Given the description of an element on the screen output the (x, y) to click on. 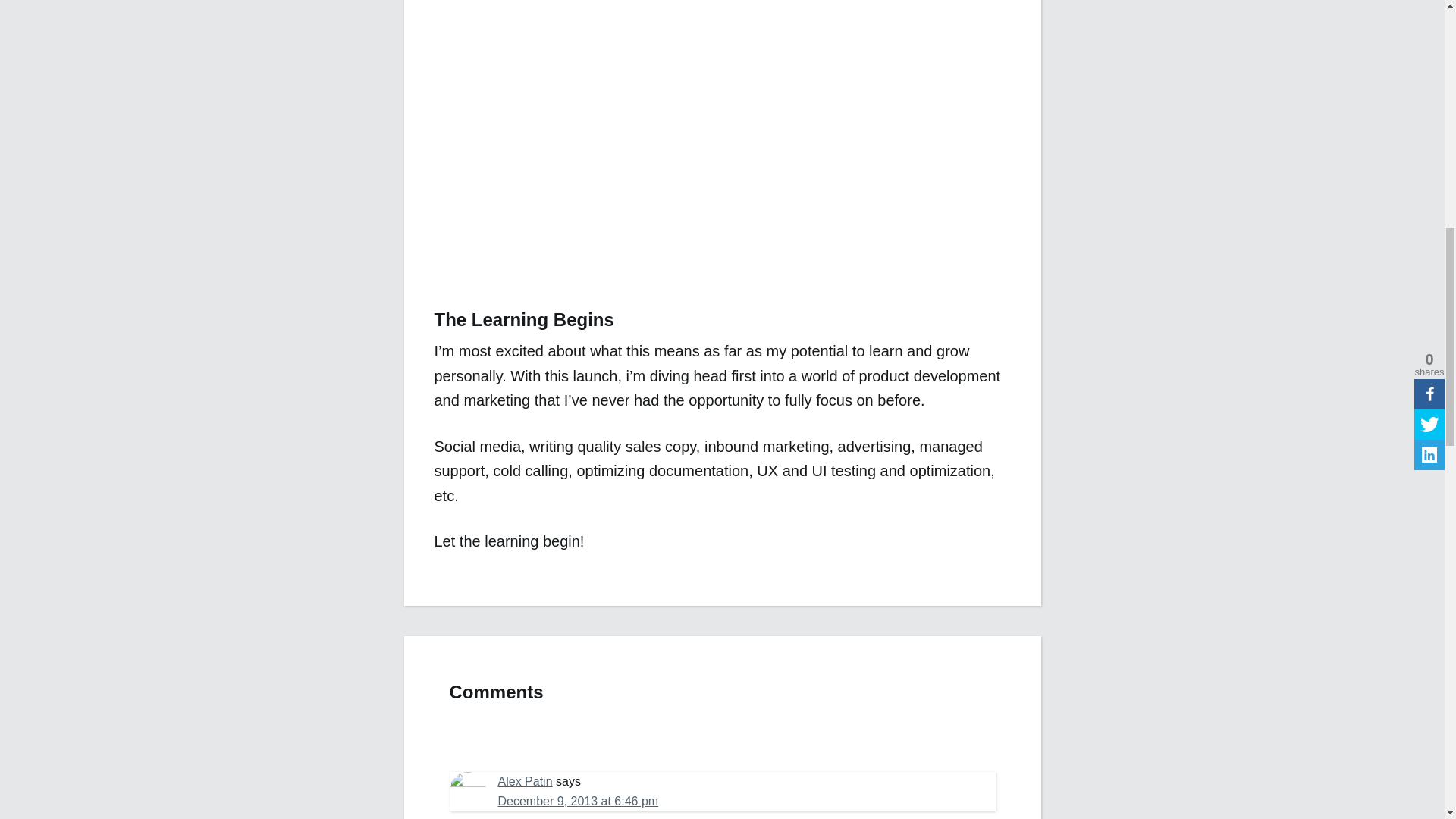
Alex Patin (524, 780)
December 9, 2013 at 6:46 pm (577, 800)
